Given the description of an element on the screen output the (x, y) to click on. 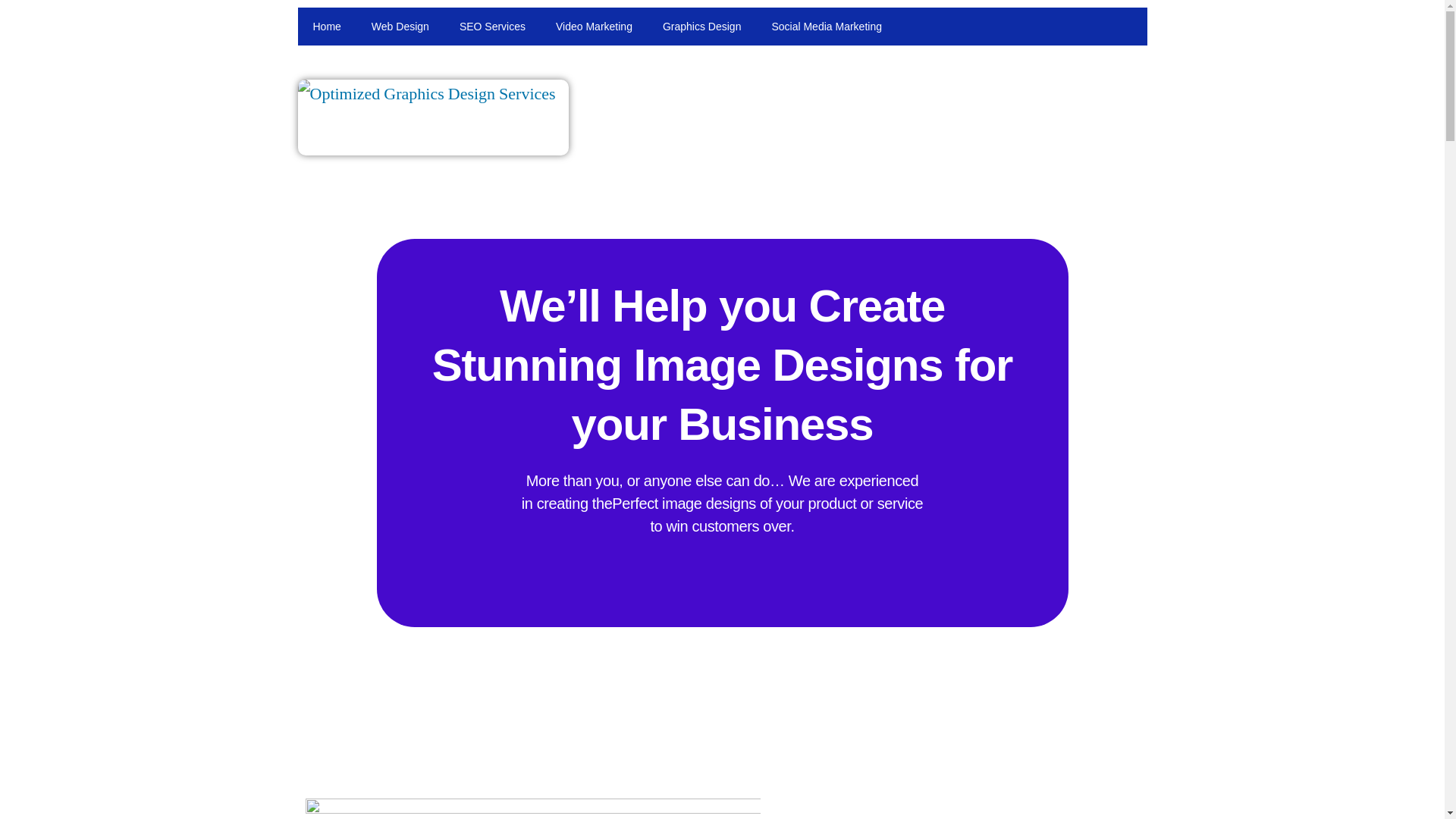
Web Design (400, 26)
Home (326, 26)
Graphics Design (702, 26)
Video Marketing (593, 26)
SEO Services (492, 26)
Social Media Marketing (825, 26)
